Given the description of an element on the screen output the (x, y) to click on. 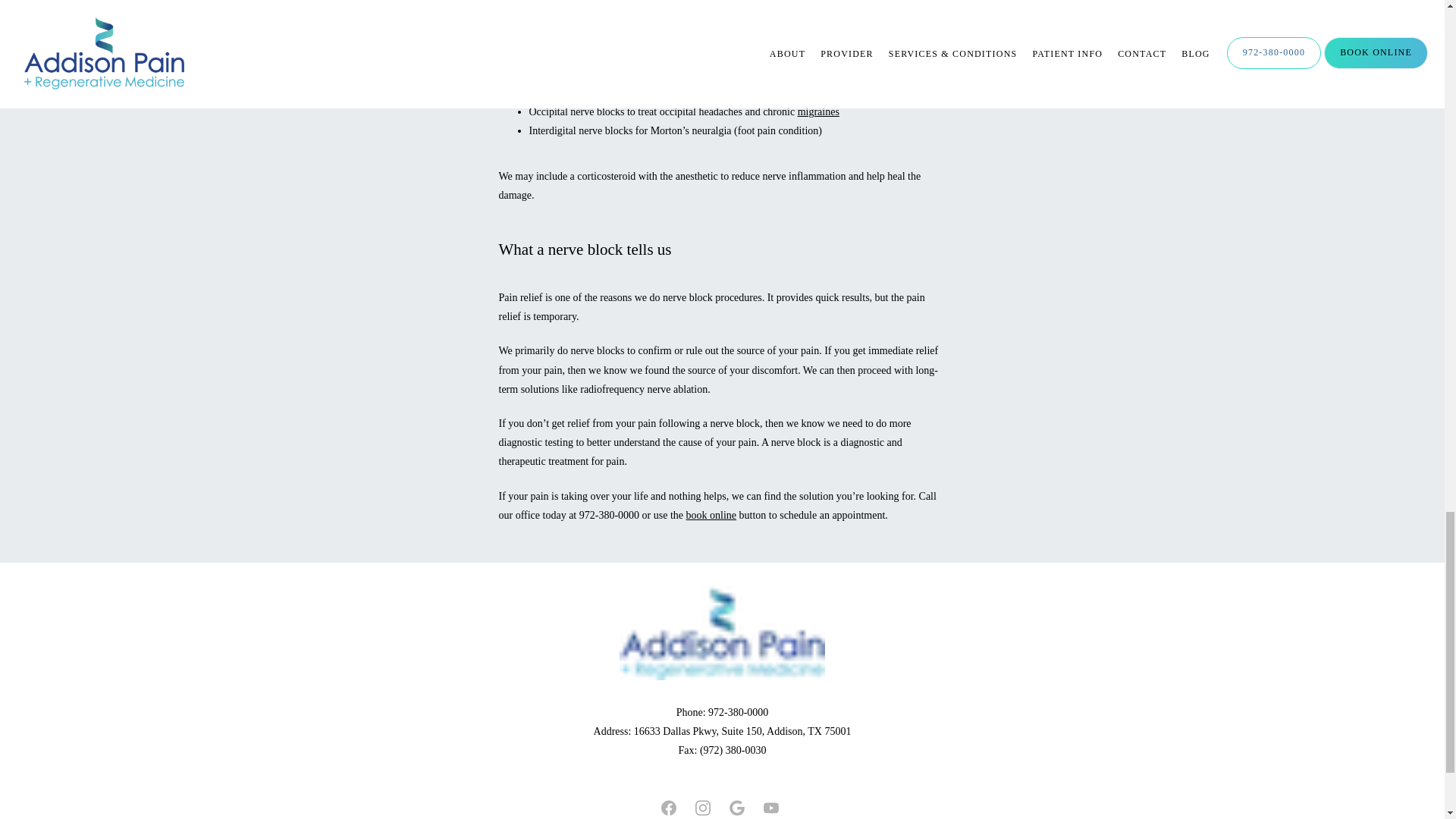
migraines (818, 111)
book online (710, 514)
back pain (647, 54)
